Given the description of an element on the screen output the (x, y) to click on. 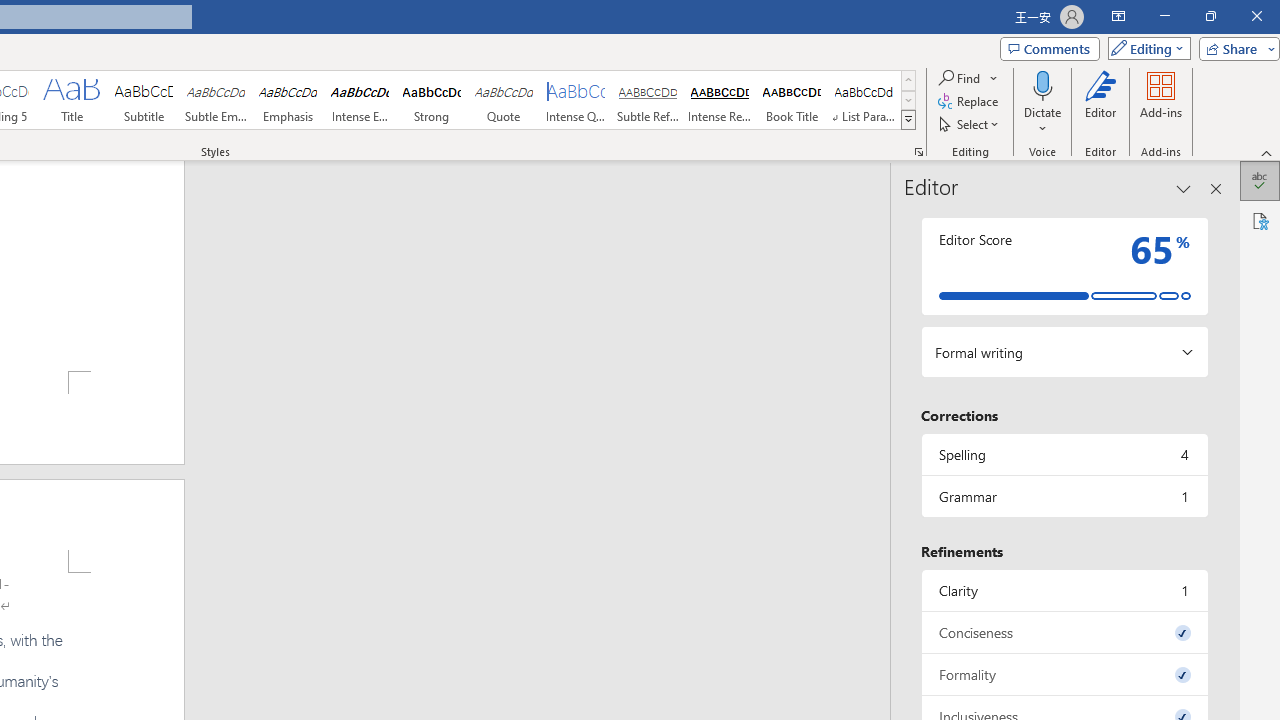
Book Title (792, 100)
Accessibility (1260, 220)
Conciseness, 0 issues. Press space or enter to review items. (1064, 632)
Clarity, 1 issue. Press space or enter to review items. (1064, 590)
Subtitle (143, 100)
Intense Reference (719, 100)
Formality, 0 issues. Press space or enter to review items. (1064, 673)
